Given the description of an element on the screen output the (x, y) to click on. 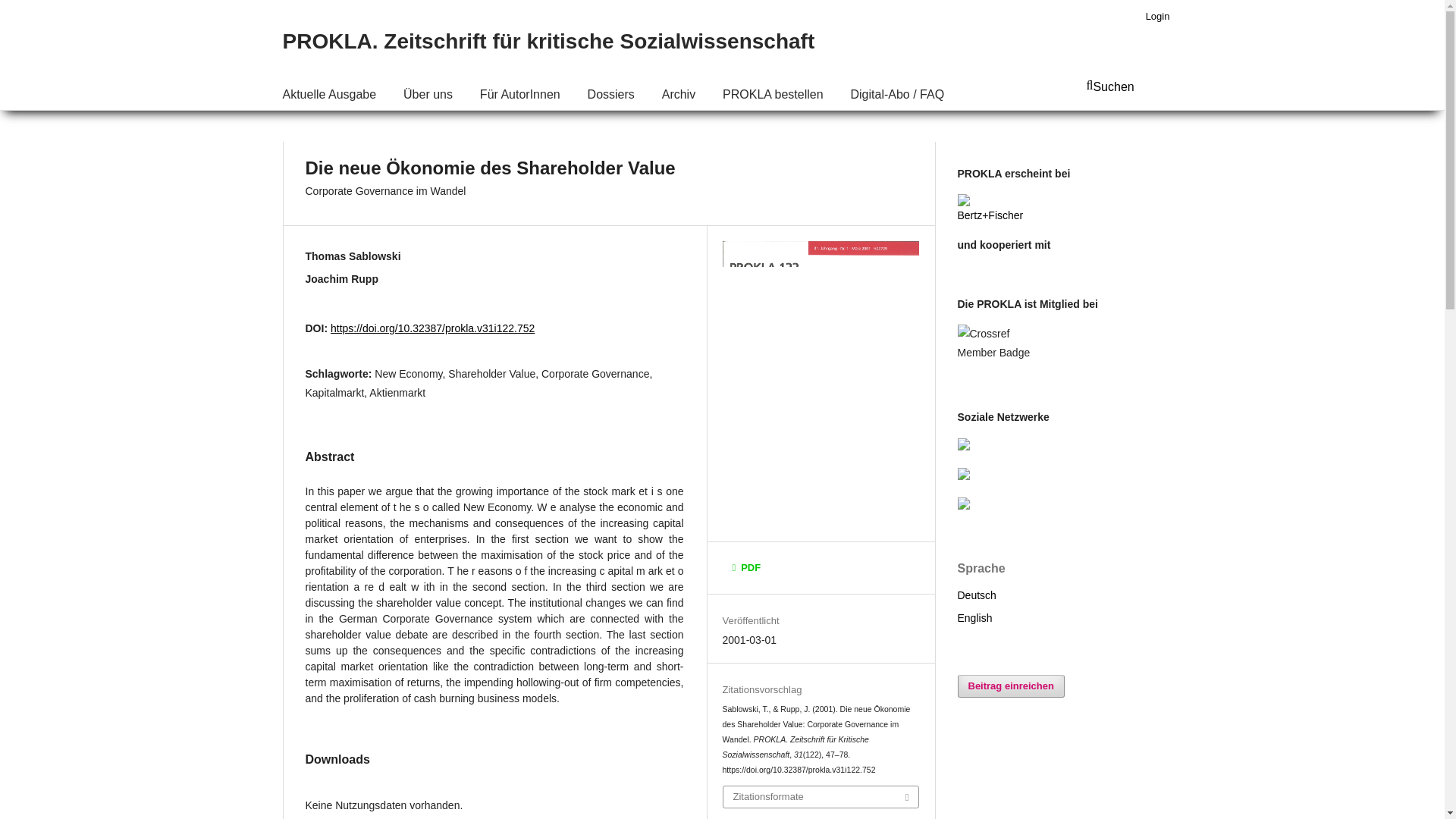
Facebook (971, 446)
Zitationsformate (820, 796)
PROKLA bestellen (772, 96)
Login (1157, 16)
Suchen (1123, 94)
Dossiers (610, 96)
Aktuelle Ausgabe (328, 96)
Youtube (971, 505)
PDF (746, 567)
Archiv (678, 96)
